Given the description of an element on the screen output the (x, y) to click on. 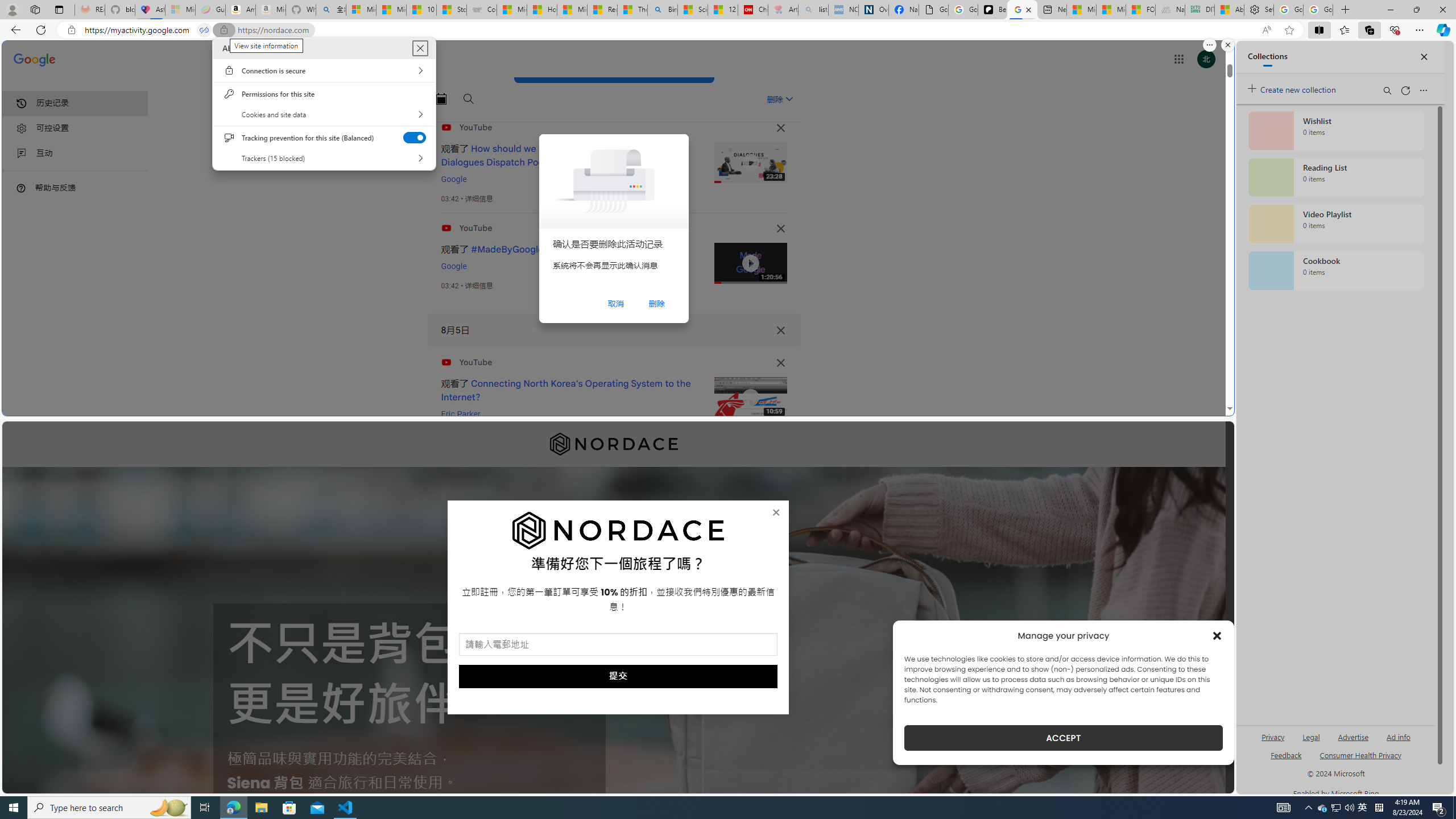
list of asthma inhalers uk - Search - Sleeping (812, 9)
Class: DI7Mnf NMm5M (780, 330)
Google (454, 266)
Google Analytics Opt-out Browser Add-on Download Page (933, 9)
Tray Input Indicator - Chinese (Simplified, China) (1378, 807)
Visual Studio Code - 1 running window (345, 807)
Show desktop (1454, 807)
Tab actions menu (58, 9)
